Given the description of an element on the screen output the (x, y) to click on. 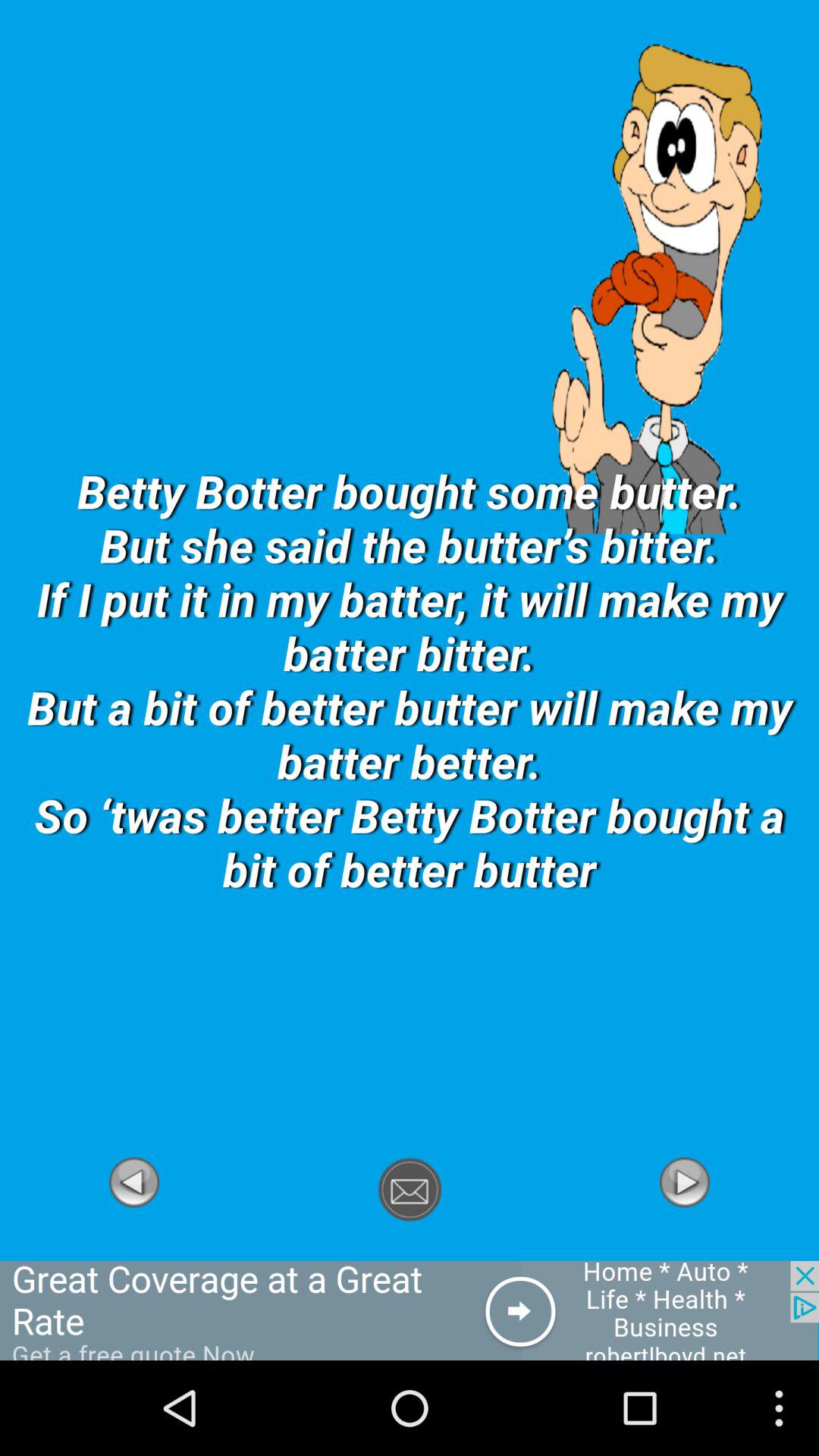
view advertisements (409, 1310)
